Given the description of an element on the screen output the (x, y) to click on. 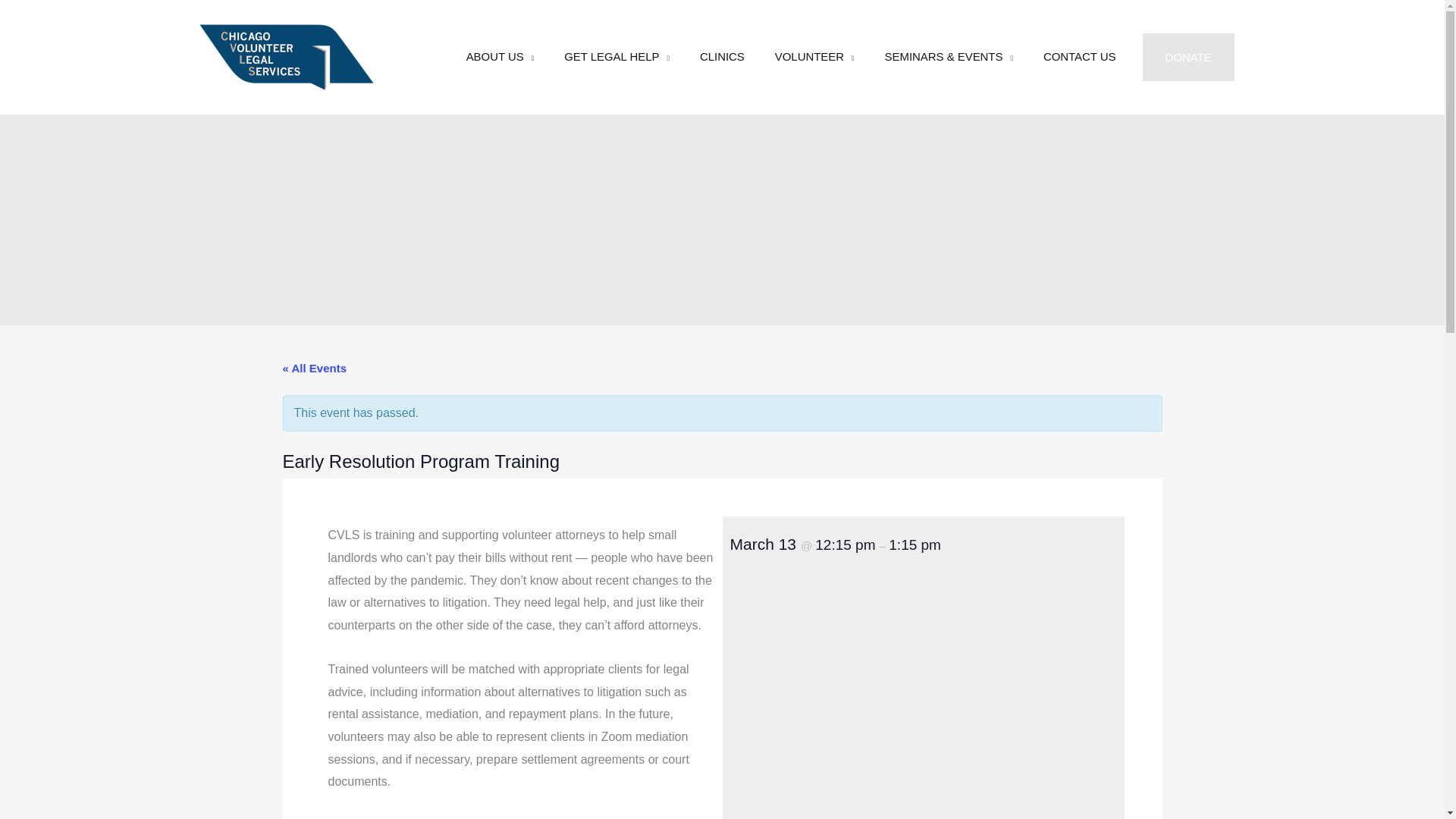
ABOUT US (500, 56)
GET LEGAL HELP (616, 56)
VOLUNTEER (814, 56)
CLINICS (722, 56)
